Given the description of an element on the screen output the (x, y) to click on. 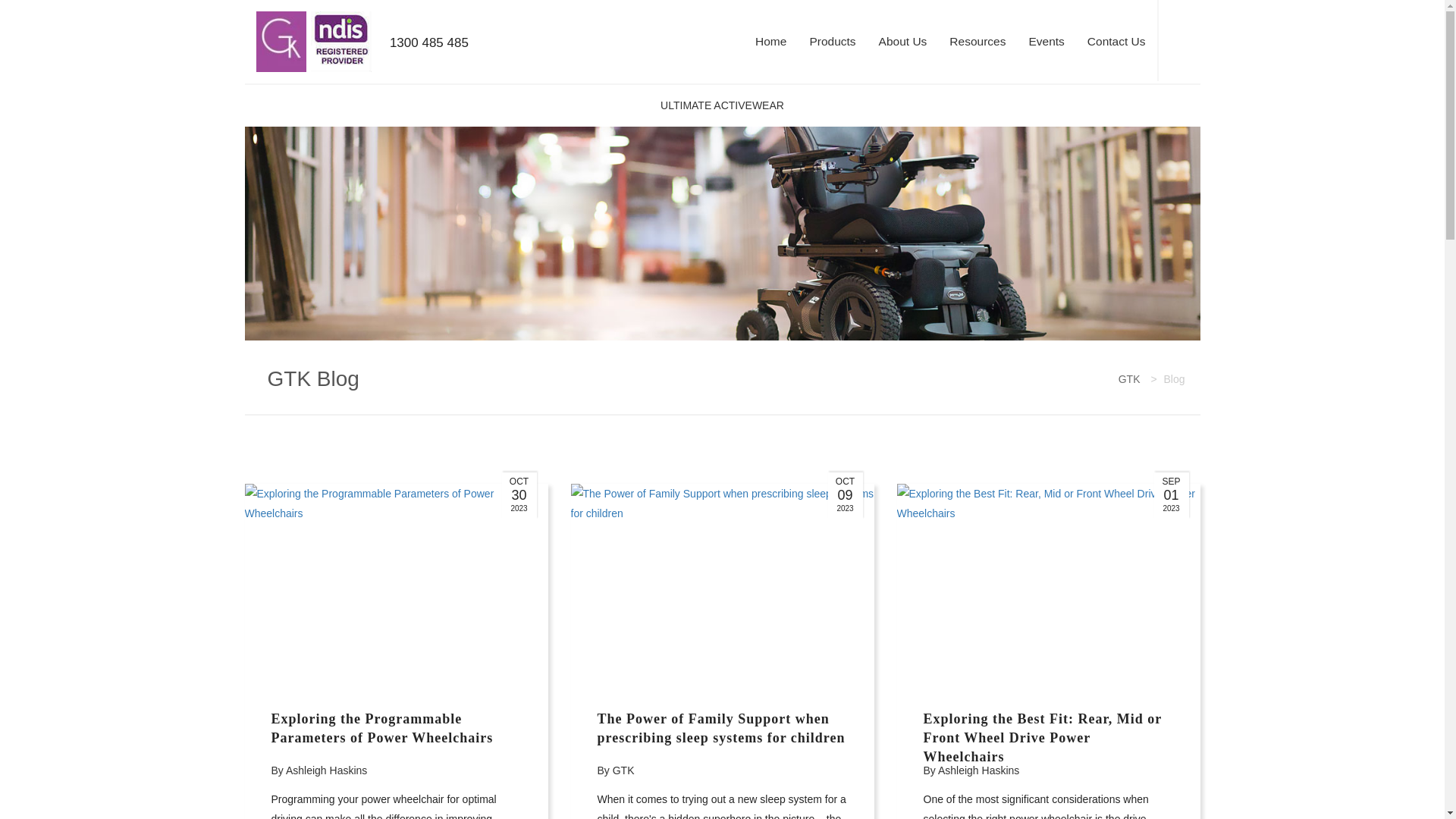
1300 485 485 Element type: text (453, 59)
Products Element type: text (831, 41)
Events Element type: text (1045, 41)
Contact Us Element type: text (1116, 41)
Resources Element type: text (977, 41)
About Us Element type: text (902, 41)
Home Element type: text (770, 41)
GTK Element type: text (1129, 379)
Exploring the Programmable Parameters of Power Wheelchairs Element type: text (382, 728)
Search Element type: text (1184, 40)
